Given the description of an element on the screen output the (x, y) to click on. 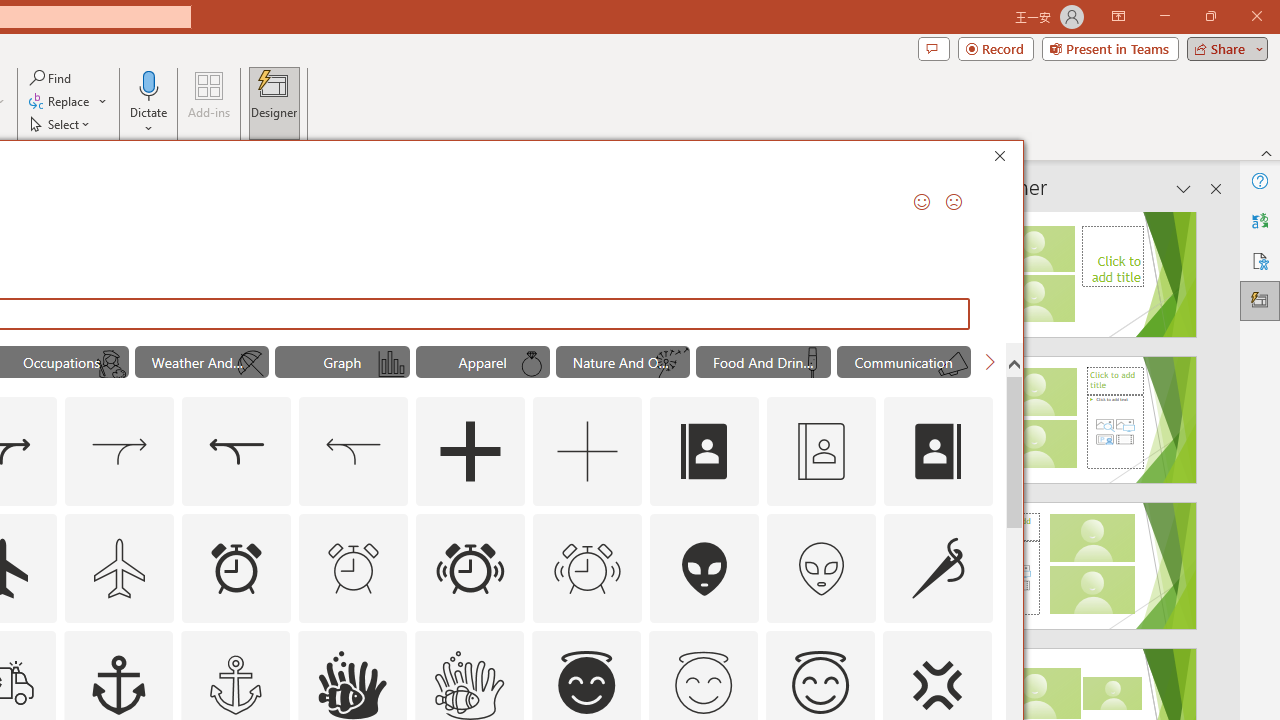
Send a Smile (922, 201)
AutomationID: Icons_Add (470, 452)
AutomationID: Icons_AlarmClock (236, 568)
AutomationID: Icons_Acquisition_RTL (236, 452)
Thumbnail (977, 645)
AutomationID: Icons_AlarmClock_M (353, 568)
AutomationID: _134_Angel_Face_A (586, 682)
AutomationID: Icons_BeachUmbrella_M (250, 364)
